Given the description of an element on the screen output the (x, y) to click on. 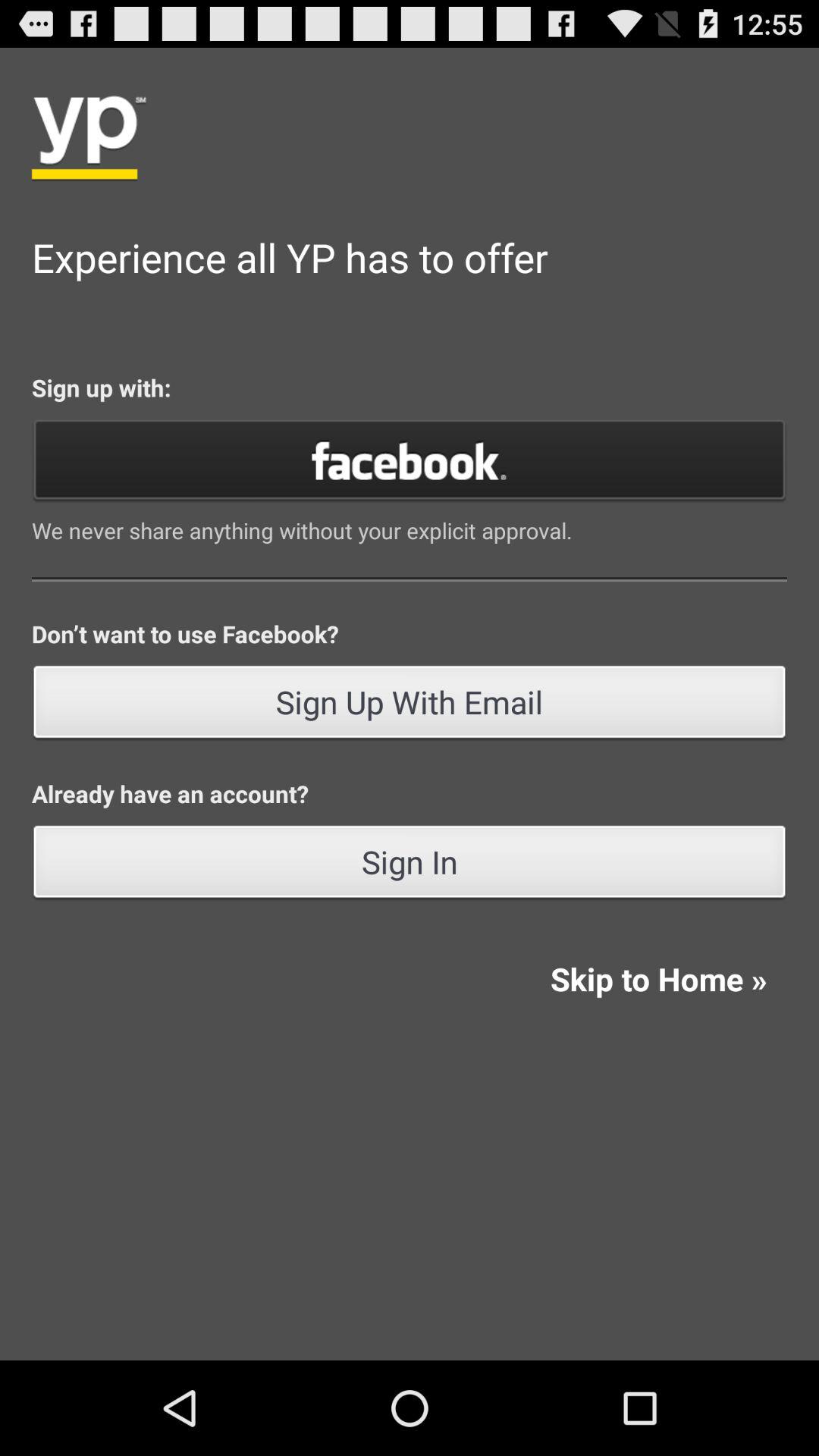
sign up with facebook button (409, 459)
